Given the description of an element on the screen output the (x, y) to click on. 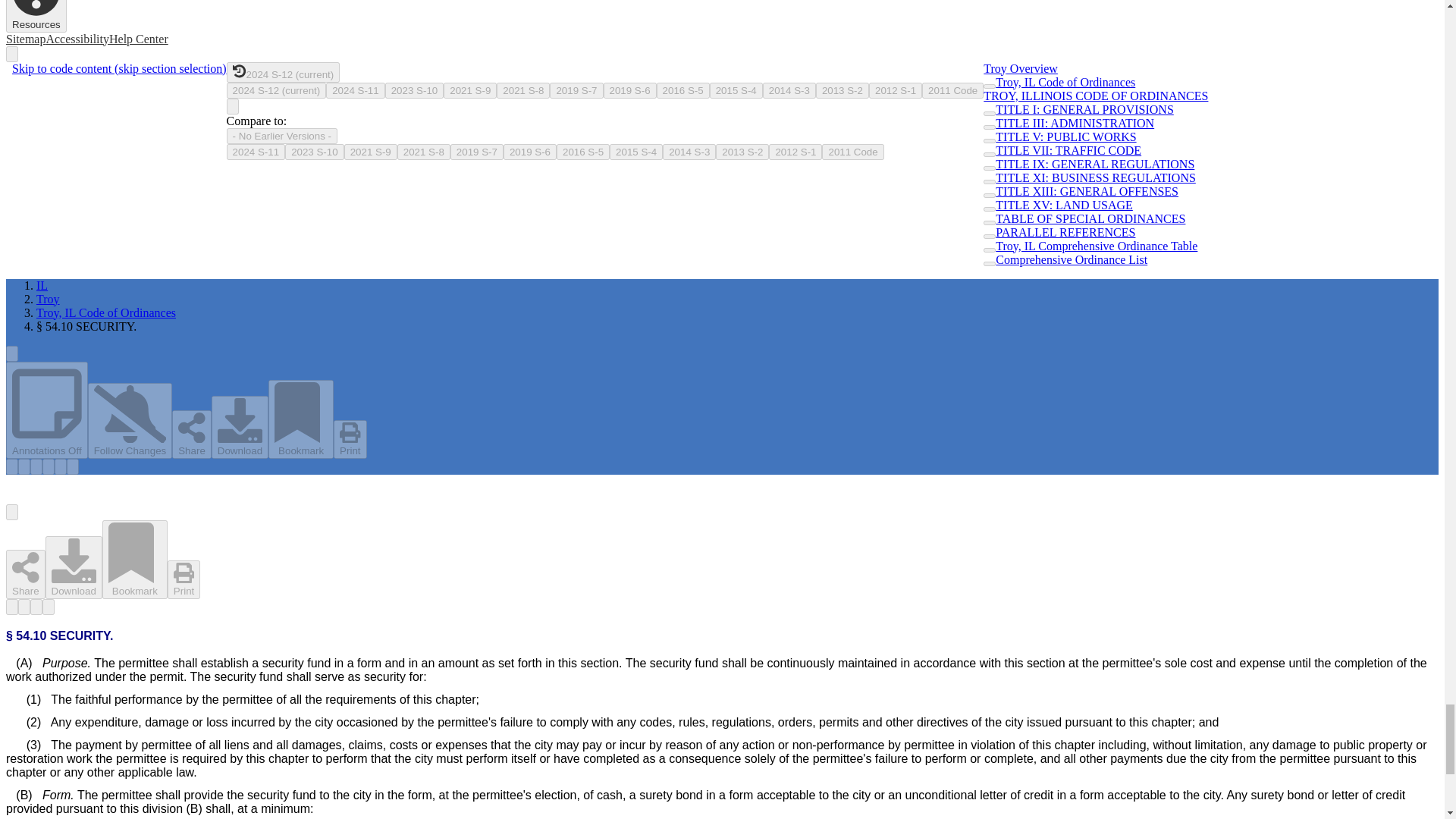
2011 Code (952, 89)
2023 S-10 (314, 151)
2021 S-9 (470, 89)
2013 S-2 (842, 89)
2019 S-6 (630, 89)
2024 S-12 (276, 89)
2023 S-10 (414, 89)
2021 S-8 (523, 89)
2014 S-3 (788, 89)
2024 S-12 (283, 72)
